Given the description of an element on the screen output the (x, y) to click on. 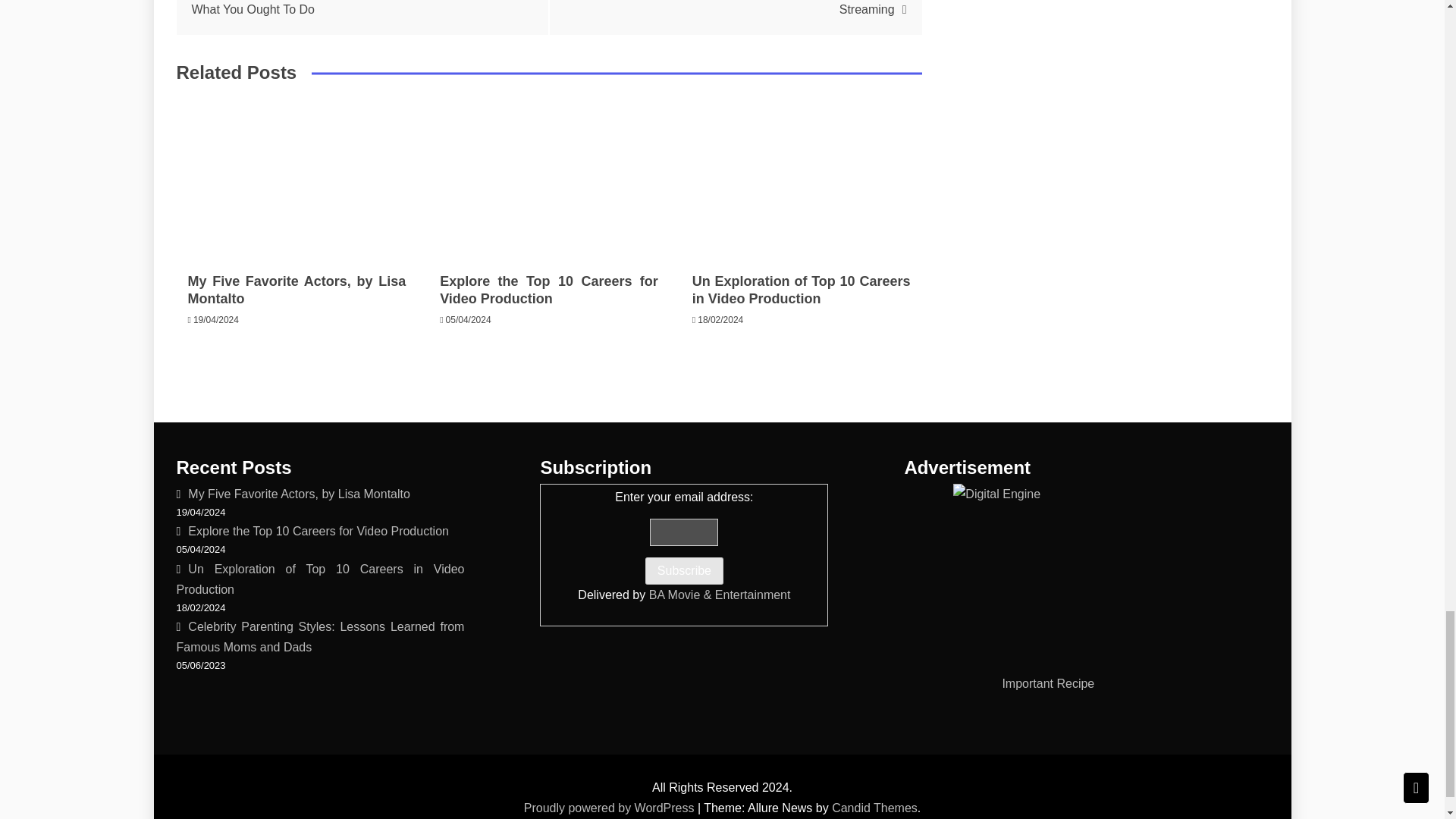
My Five Favorite Actors, by Lisa Montalto 3 (296, 179)
Un Exploration of Top 10 Careers in Video Production 5 (801, 179)
Subscribe (684, 570)
Explore the Top 10 Careers for Video Production 4 (548, 179)
My Five Favorite Actors, by Lisa Montalto (296, 289)
Explore the Top 10 Careers for Video Production (548, 289)
